Given the description of an element on the screen output the (x, y) to click on. 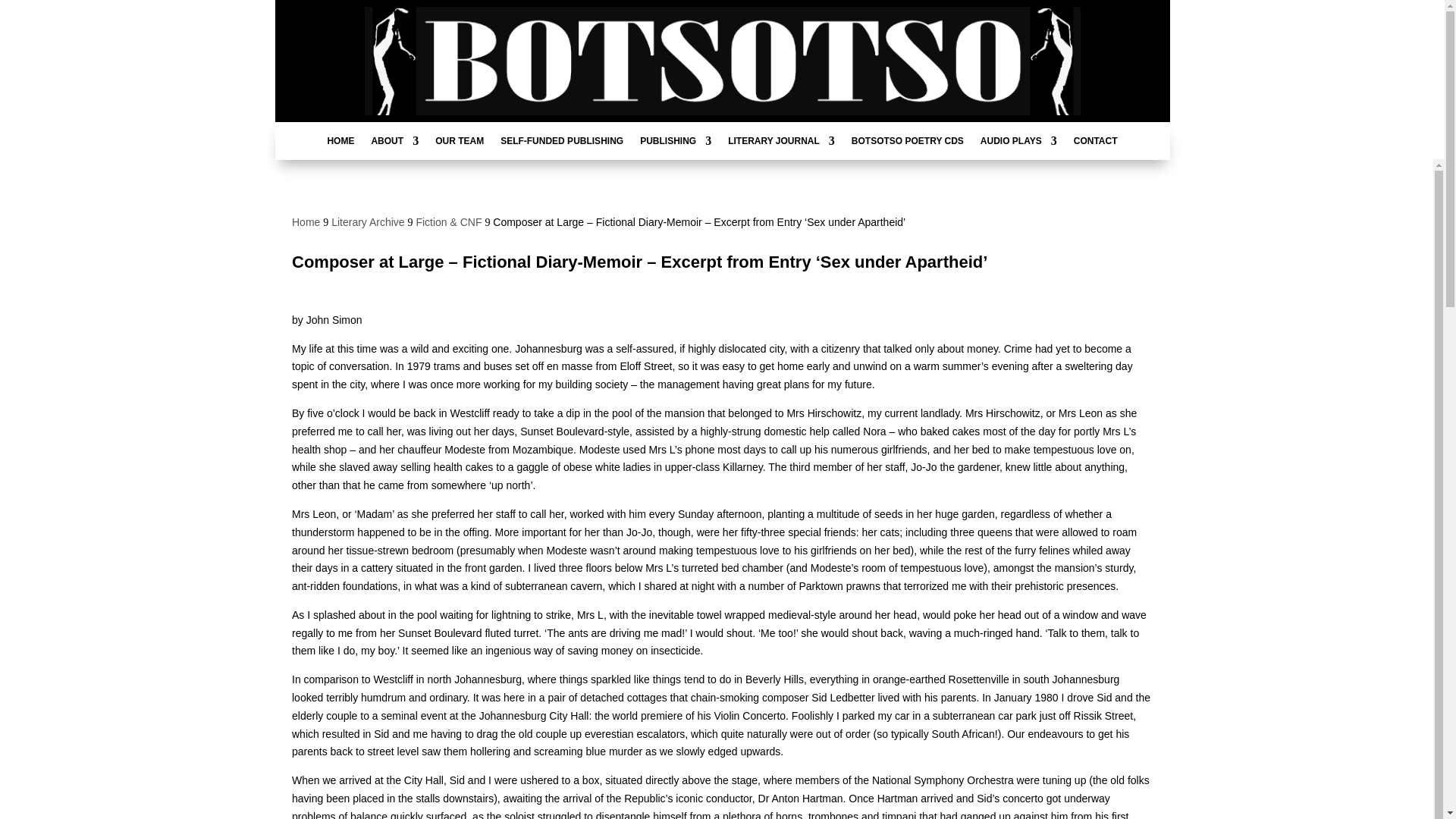
AUDIO PLAYS (1018, 143)
LITERARY JOURNAL (781, 143)
PUBLISHING (675, 143)
SELF-FUNDED PUBLISHING (561, 143)
New Botsotso logo (722, 60)
BOTSOTSO POETRY CDS (907, 143)
CONTACT (1096, 143)
OUR TEAM (459, 143)
HOME (339, 143)
ABOUT (395, 143)
